Given the description of an element on the screen output the (x, y) to click on. 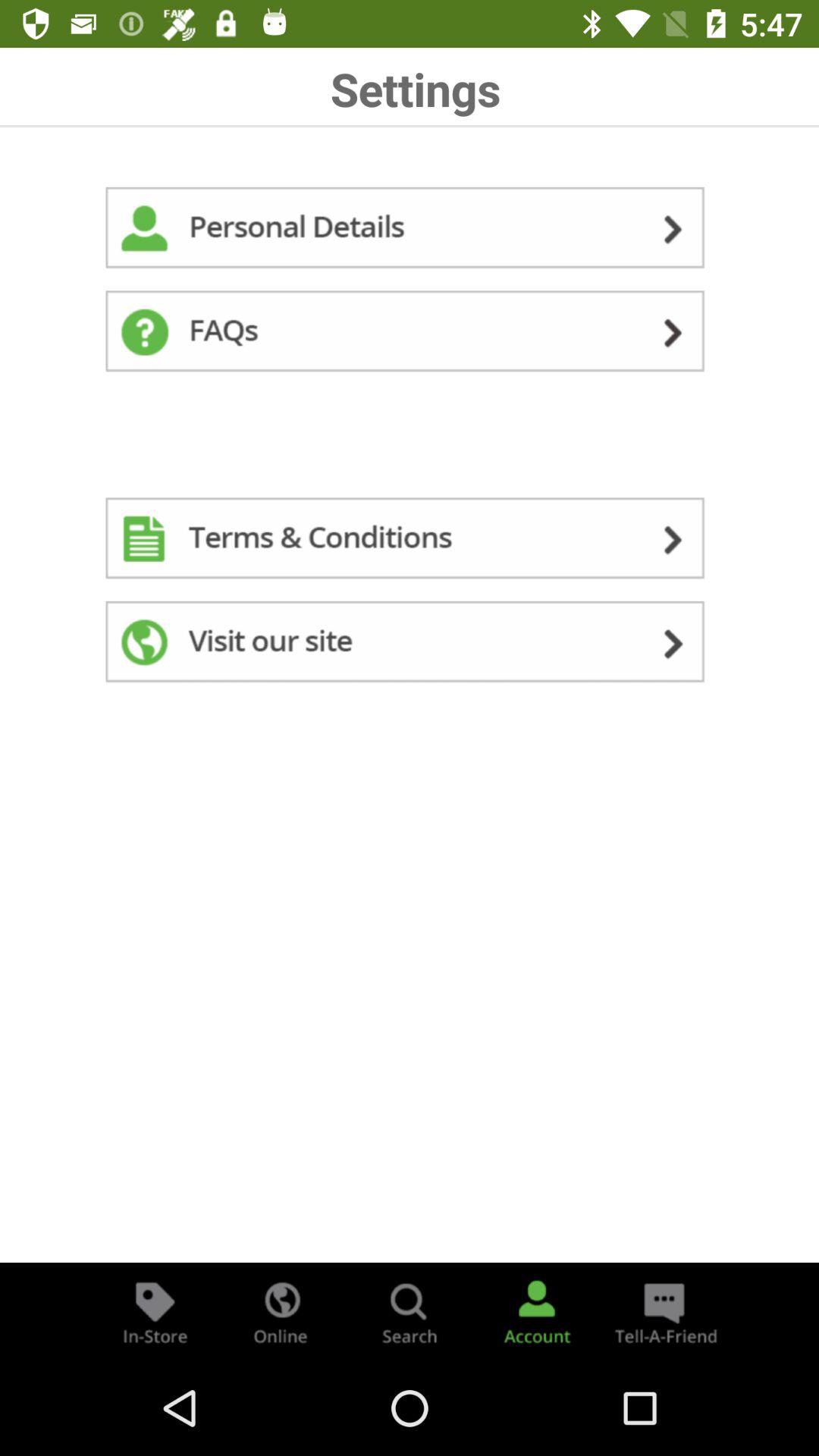
online store purchases (281, 1311)
